Given the description of an element on the screen output the (x, y) to click on. 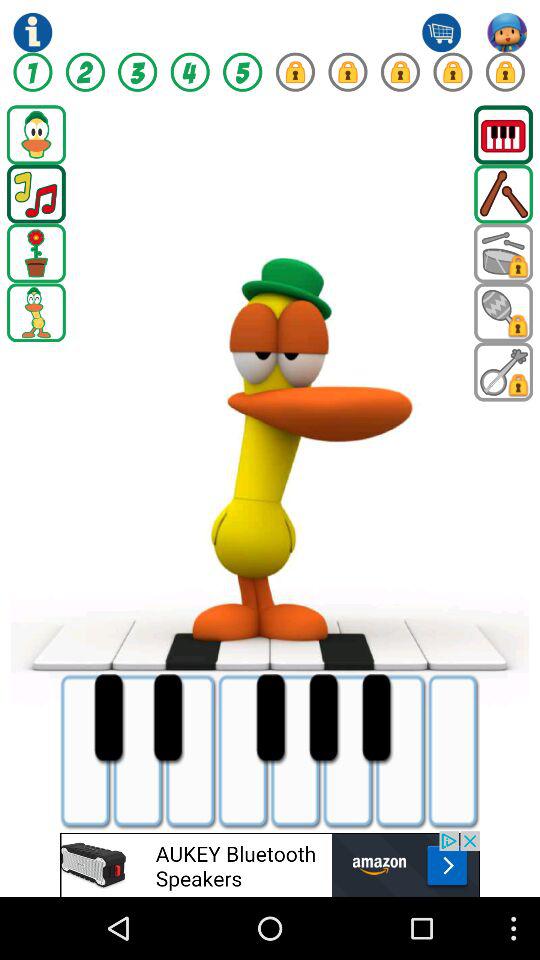
shopping cart icon (441, 32)
